Given the description of an element on the screen output the (x, y) to click on. 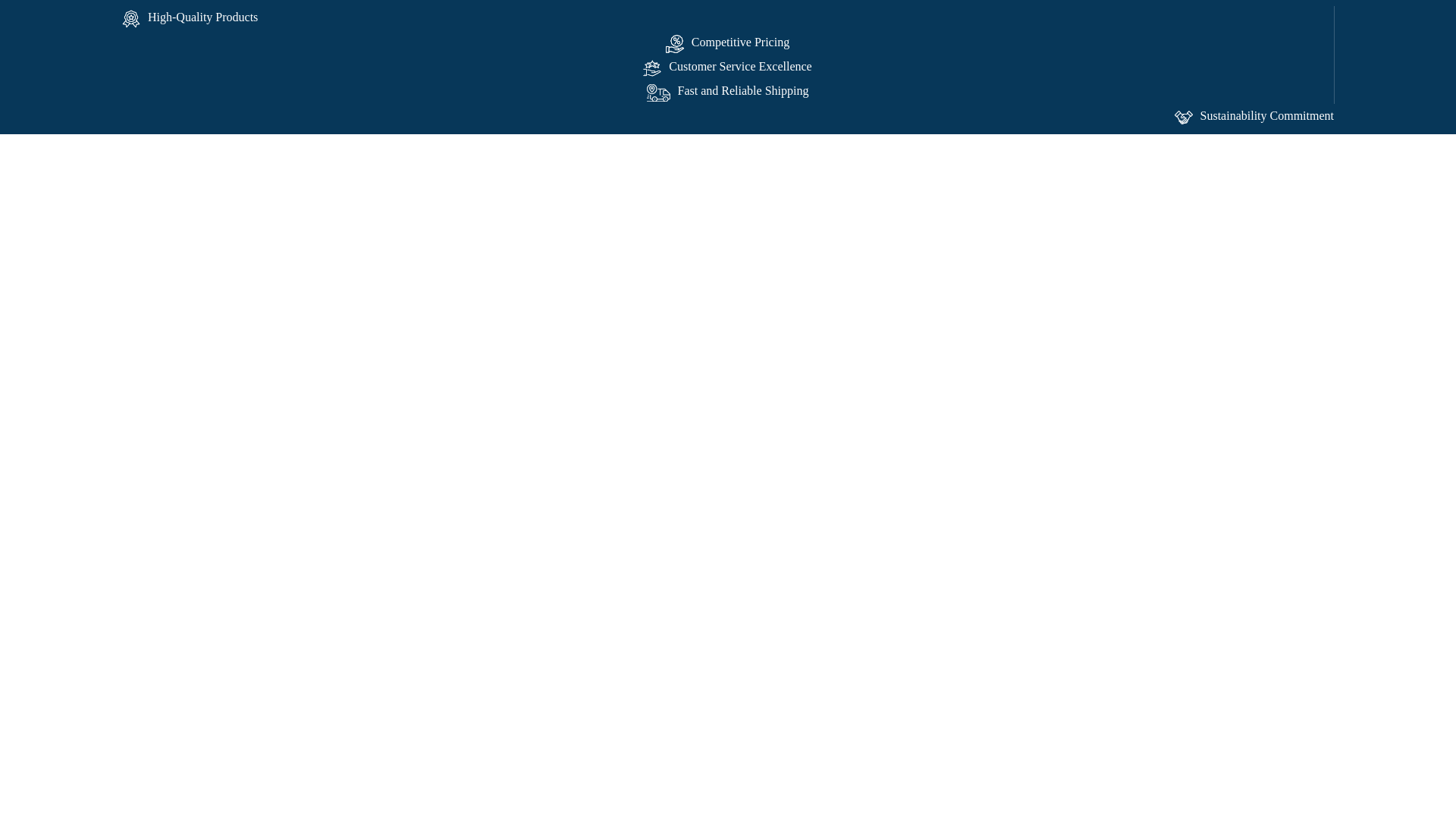
SKIP TO CONTENT (45, 16)
